Given the description of an element on the screen output the (x, y) to click on. 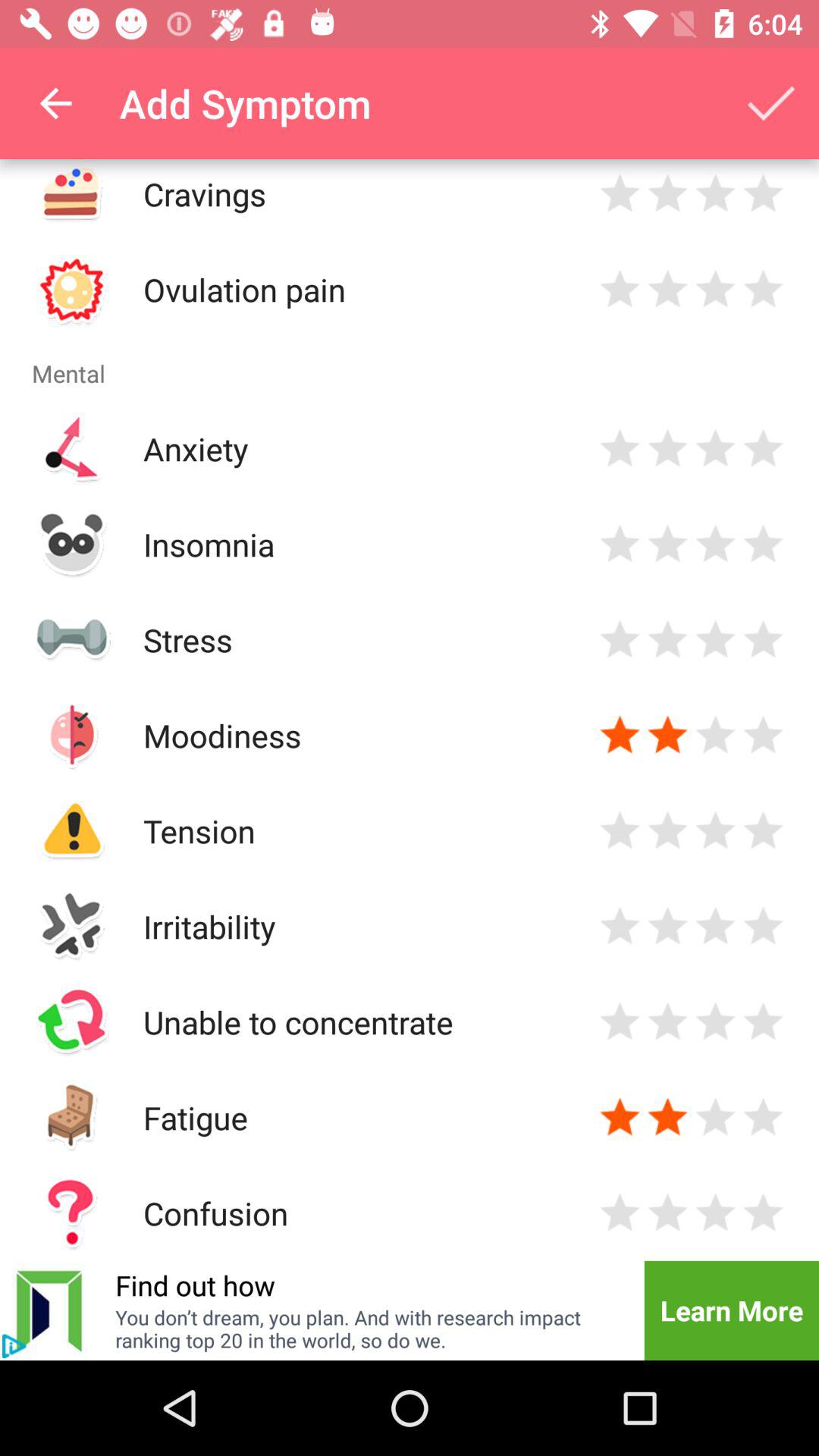
choose a middling severity for the symptom anxiety (715, 448)
